Given the description of an element on the screen output the (x, y) to click on. 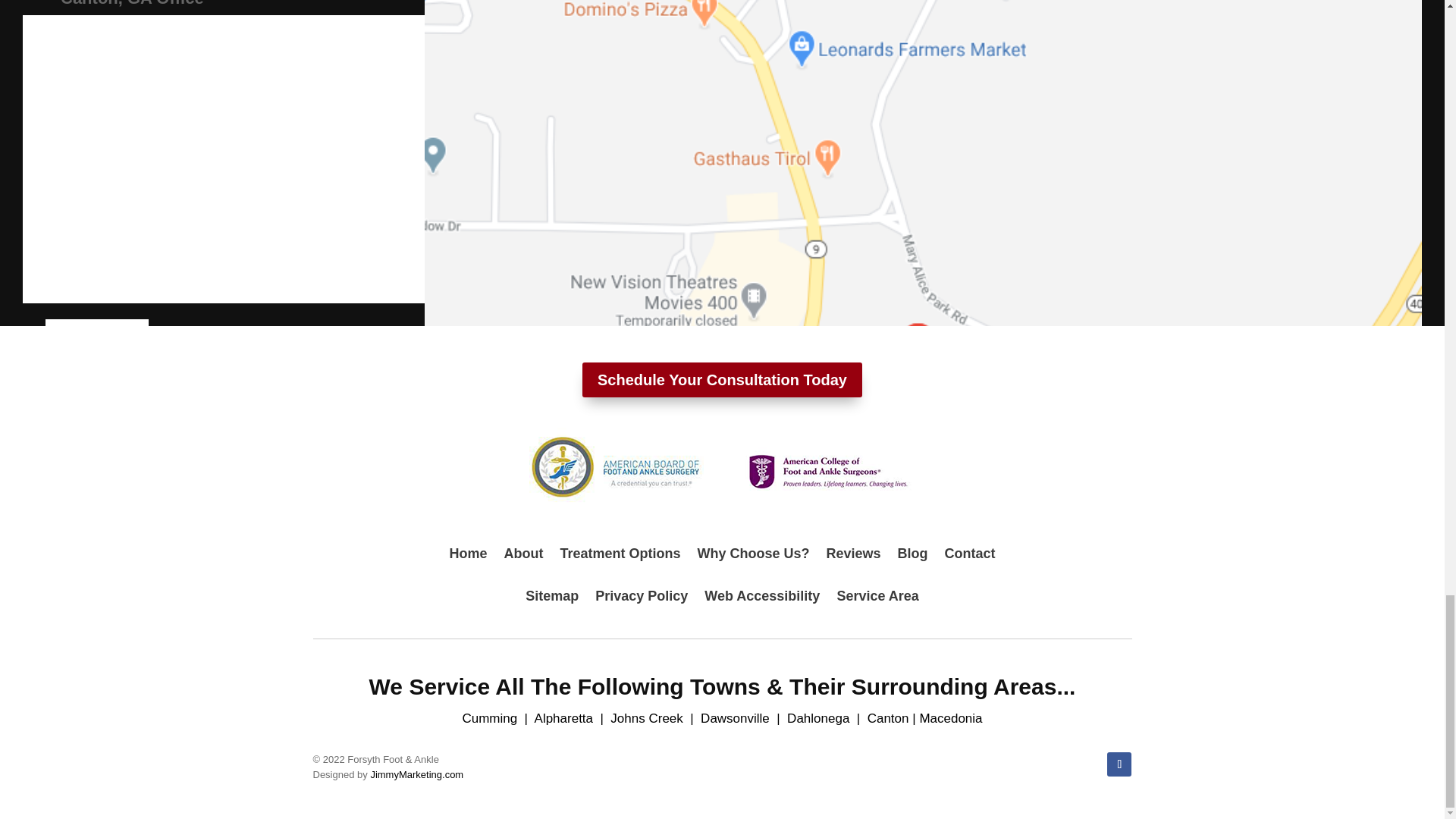
abfa-logo (616, 470)
acfas-logo (826, 470)
Follow on Facebook (1118, 764)
